Given the description of an element on the screen output the (x, y) to click on. 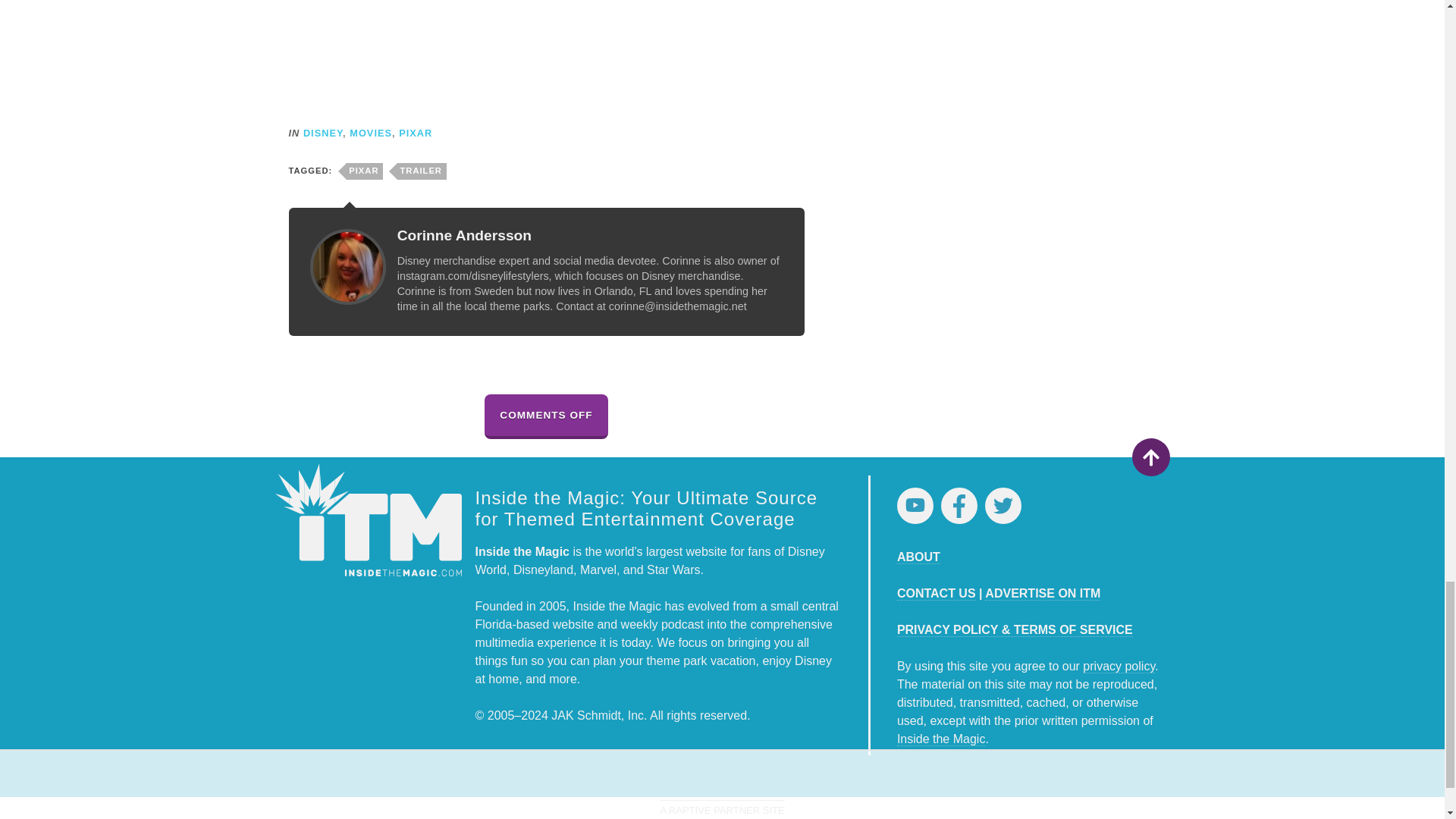
Return to Top (1150, 456)
